Given the description of an element on the screen output the (x, y) to click on. 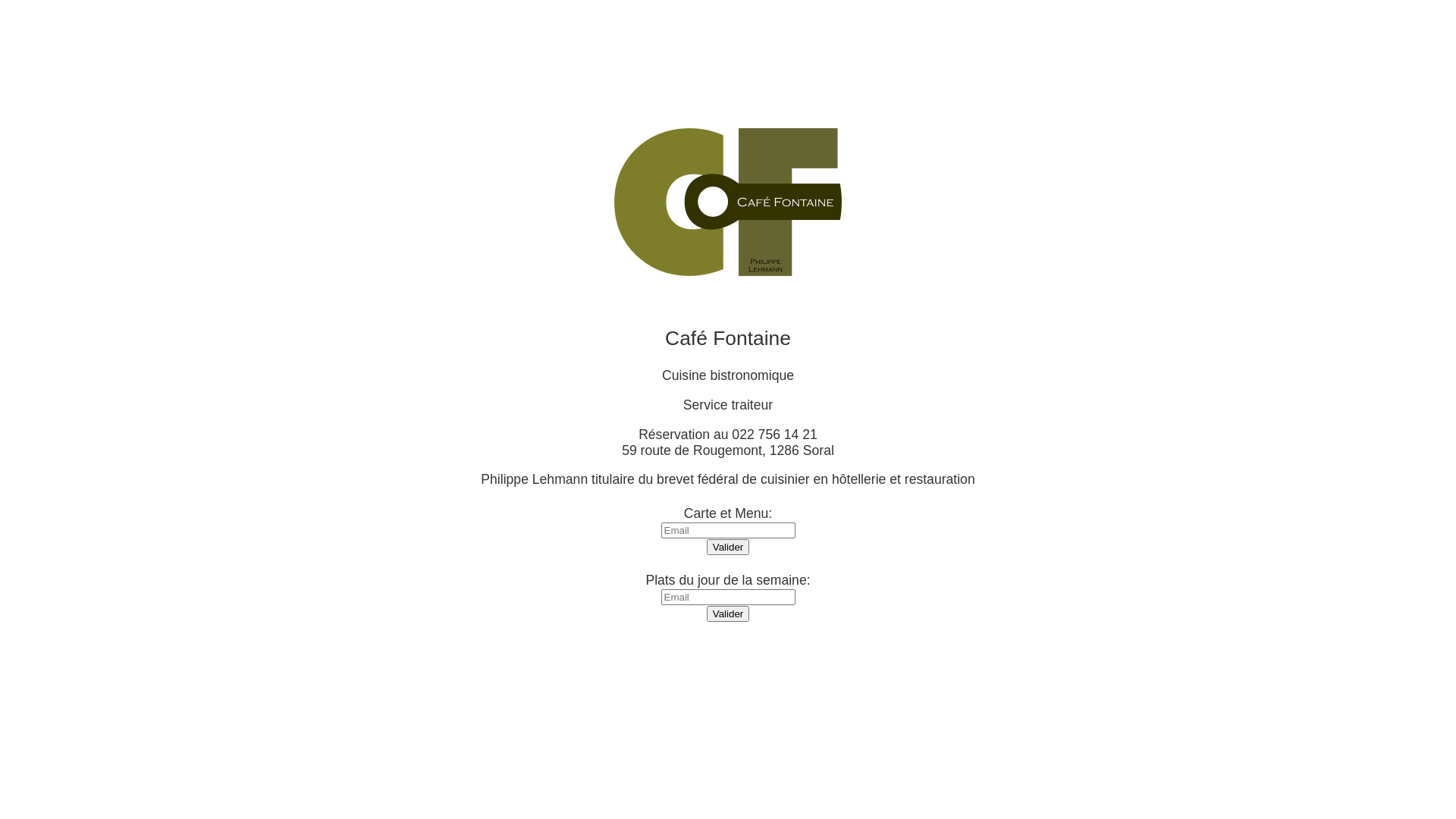
Valider Element type: text (727, 613)
Valider Element type: text (727, 547)
